Given the description of an element on the screen output the (x, y) to click on. 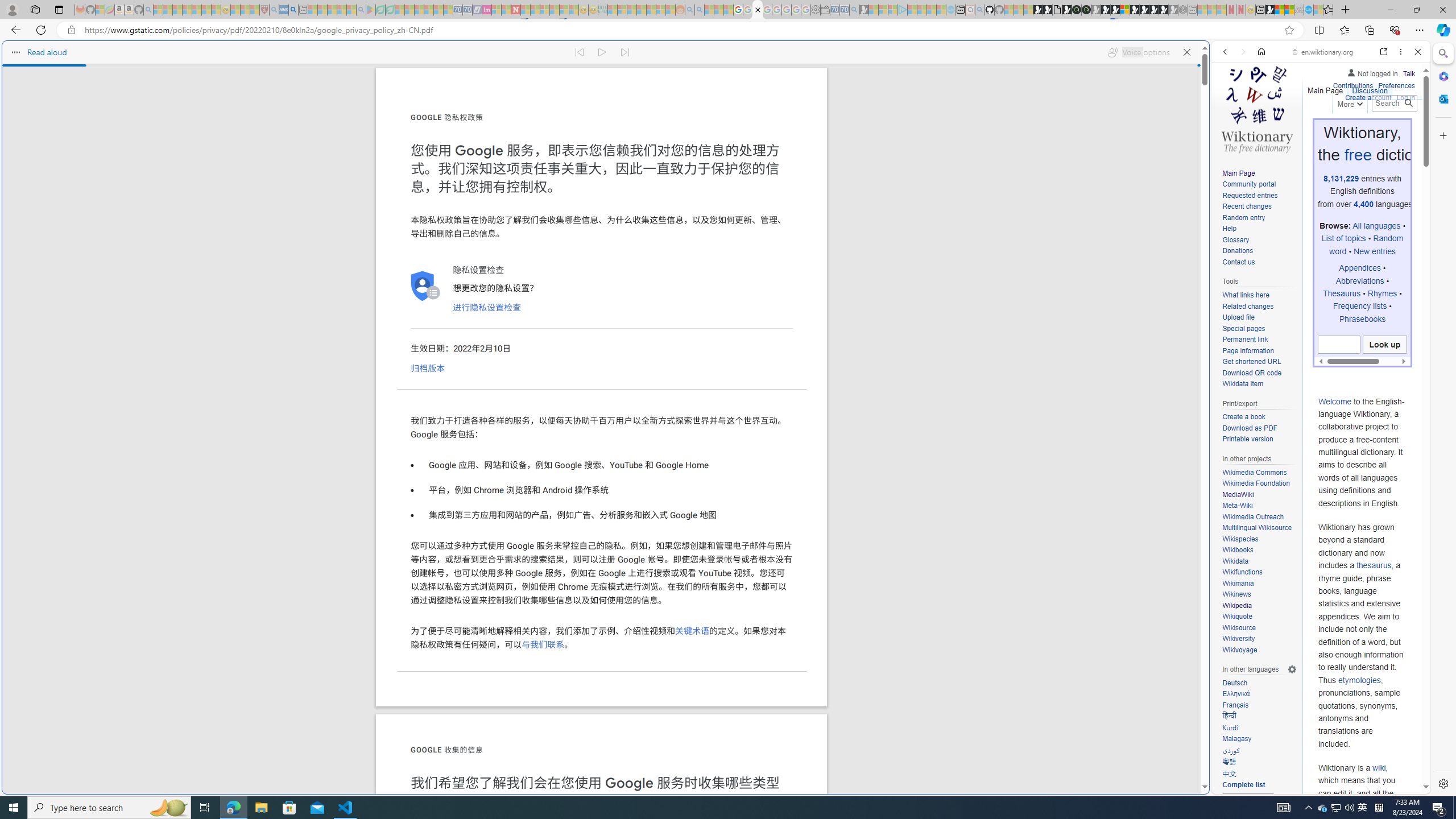
Search Filter, WEB (1230, 129)
Deutsch (1259, 683)
Future Focus Report 2024 (1085, 9)
Preferences (1396, 84)
Actions for this site (1370, 583)
Deutsch (1234, 682)
Wikimania (1259, 583)
Navy Quest (1299, 9)
